Given the description of an element on the screen output the (x, y) to click on. 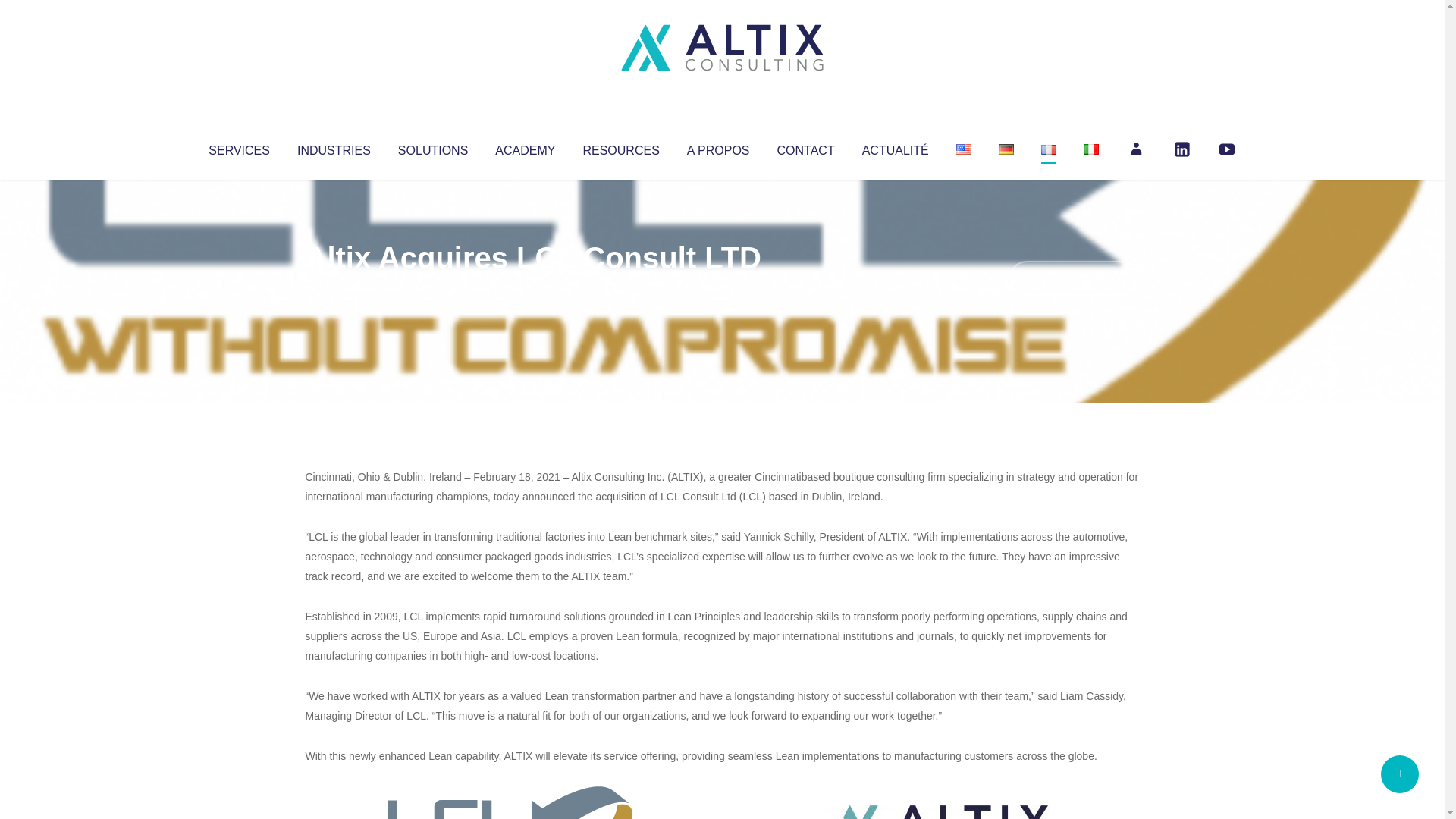
SOLUTIONS (432, 146)
SERVICES (238, 146)
Articles par Altix (333, 287)
No Comments (1073, 278)
RESOURCES (620, 146)
ACADEMY (524, 146)
Uncategorized (530, 287)
INDUSTRIES (334, 146)
A PROPOS (718, 146)
Altix (333, 287)
